Given the description of an element on the screen output the (x, y) to click on. 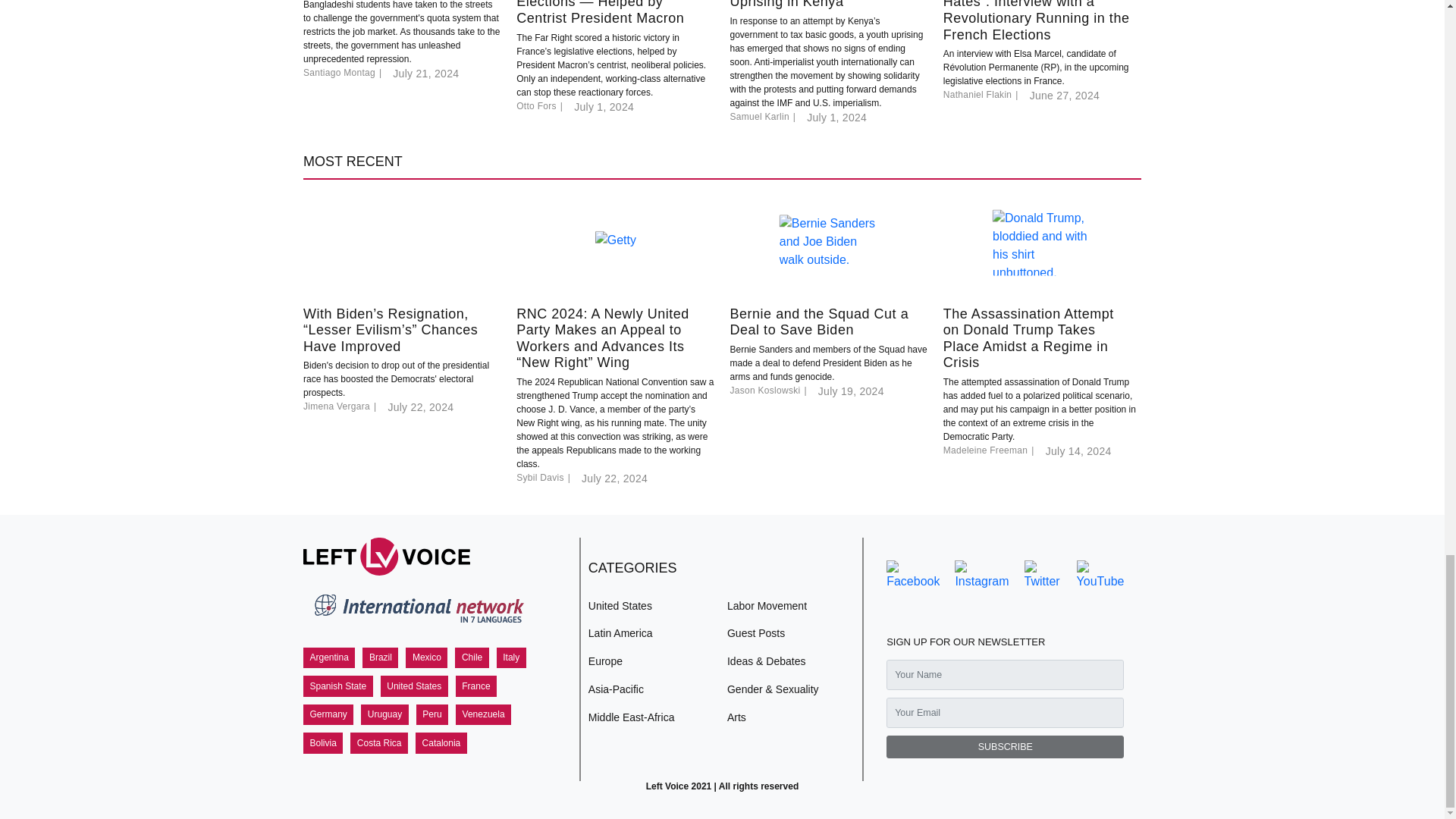
Left Voice (386, 556)
International Network (417, 611)
